Given the description of an element on the screen output the (x, y) to click on. 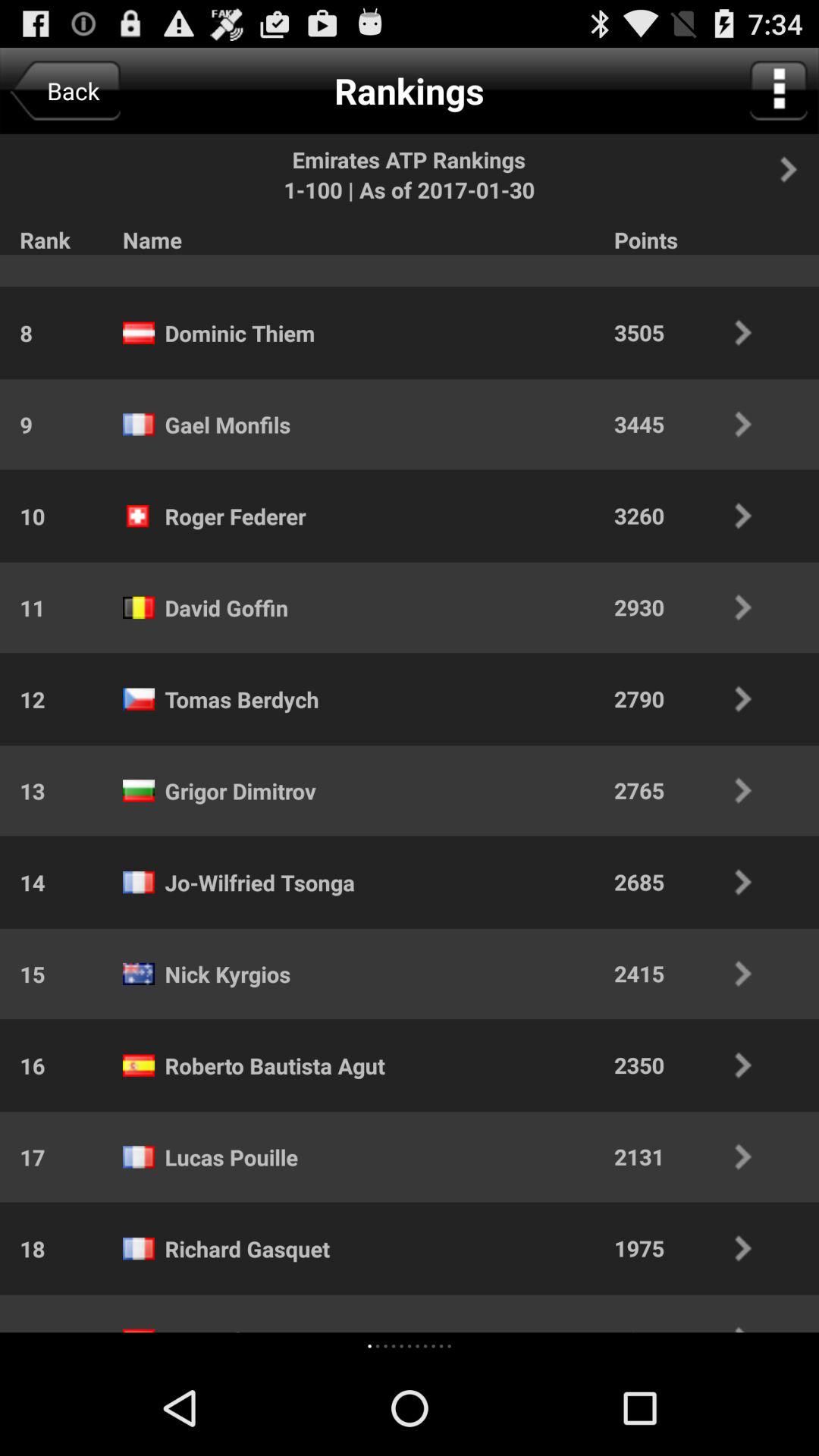
jump until the 10 item (22, 515)
